Given the description of an element on the screen output the (x, y) to click on. 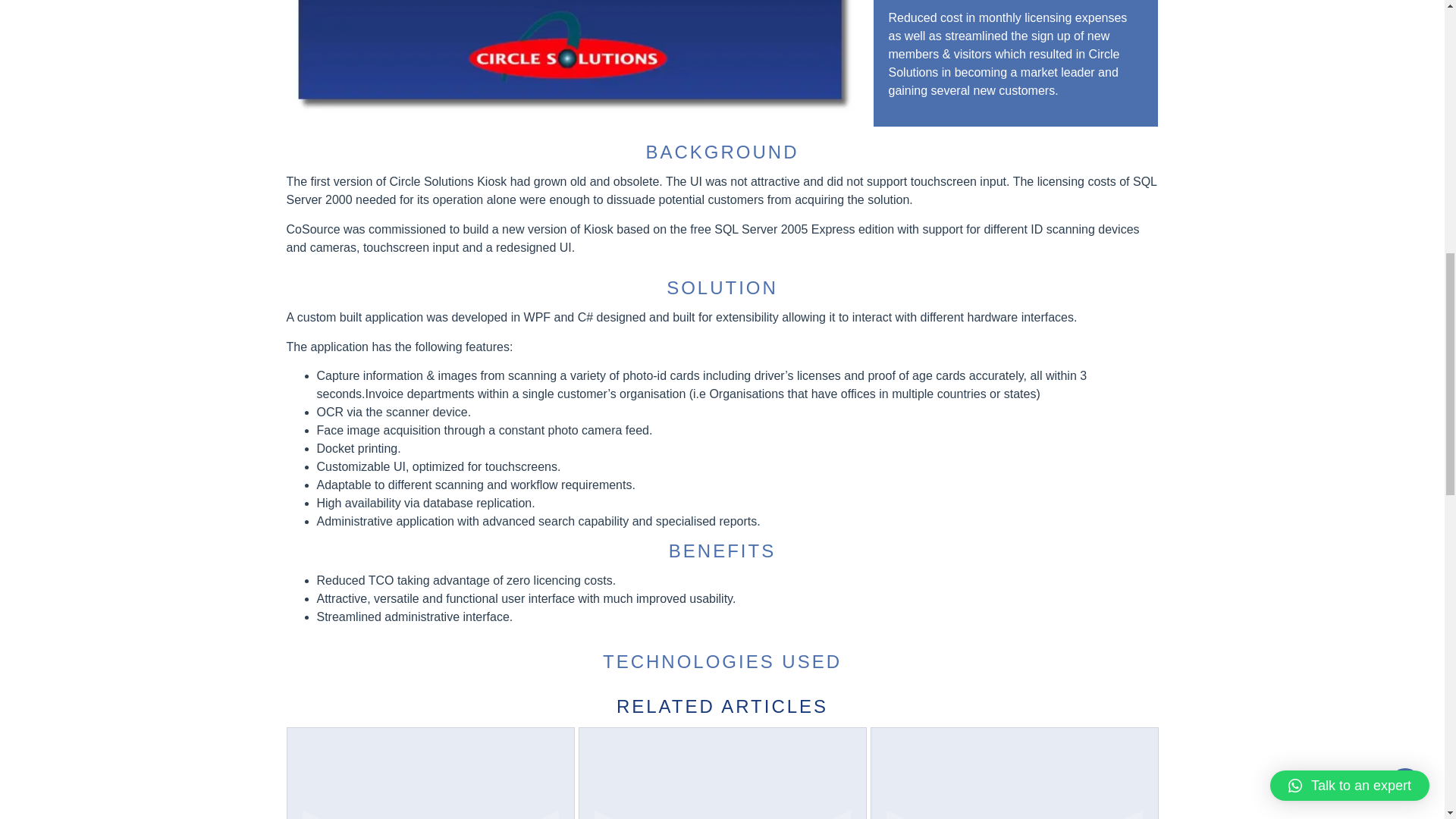
obt (572, 58)
